Given the description of an element on the screen output the (x, y) to click on. 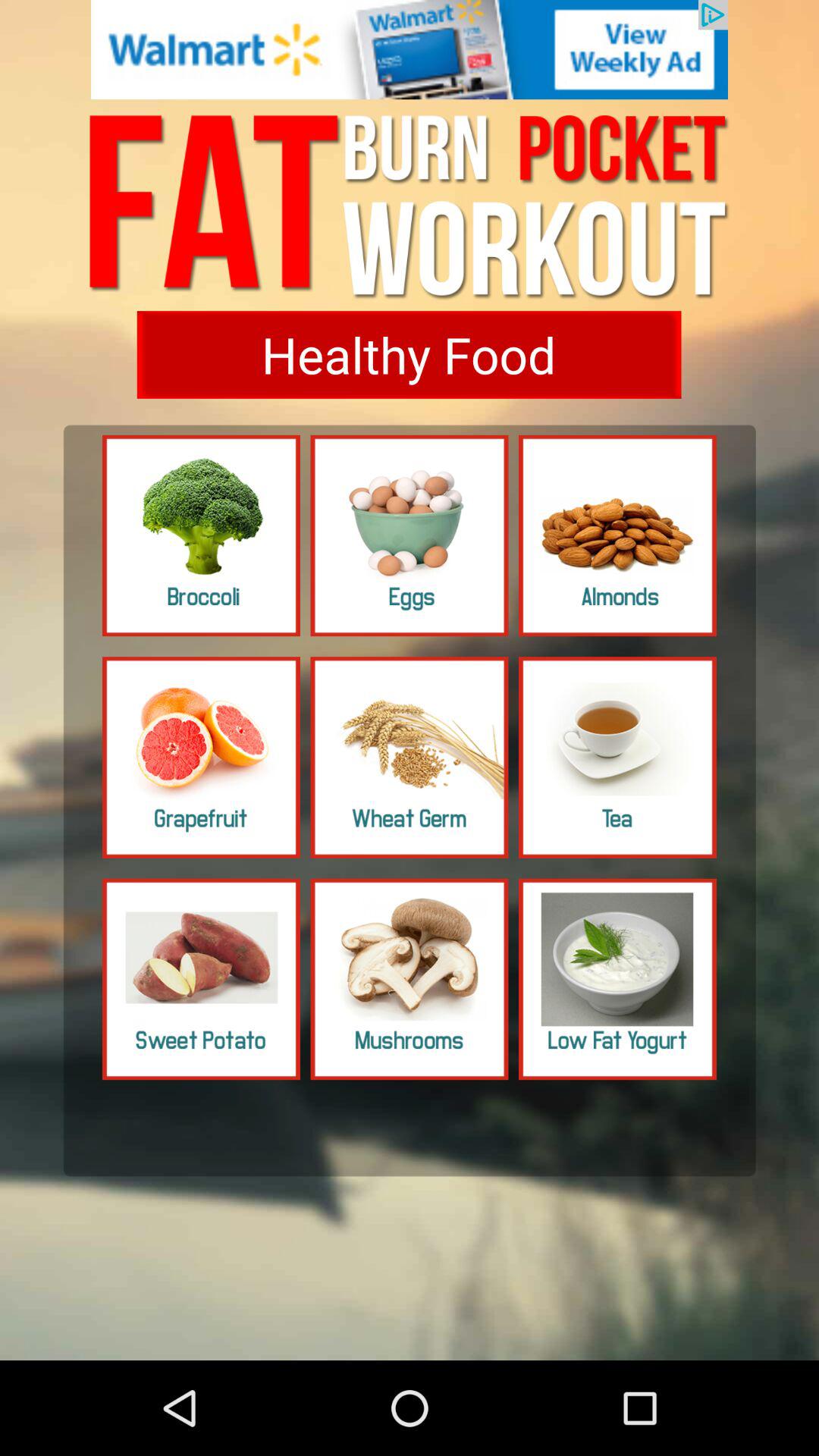
advertisement display (409, 49)
